Given the description of an element on the screen output the (x, y) to click on. 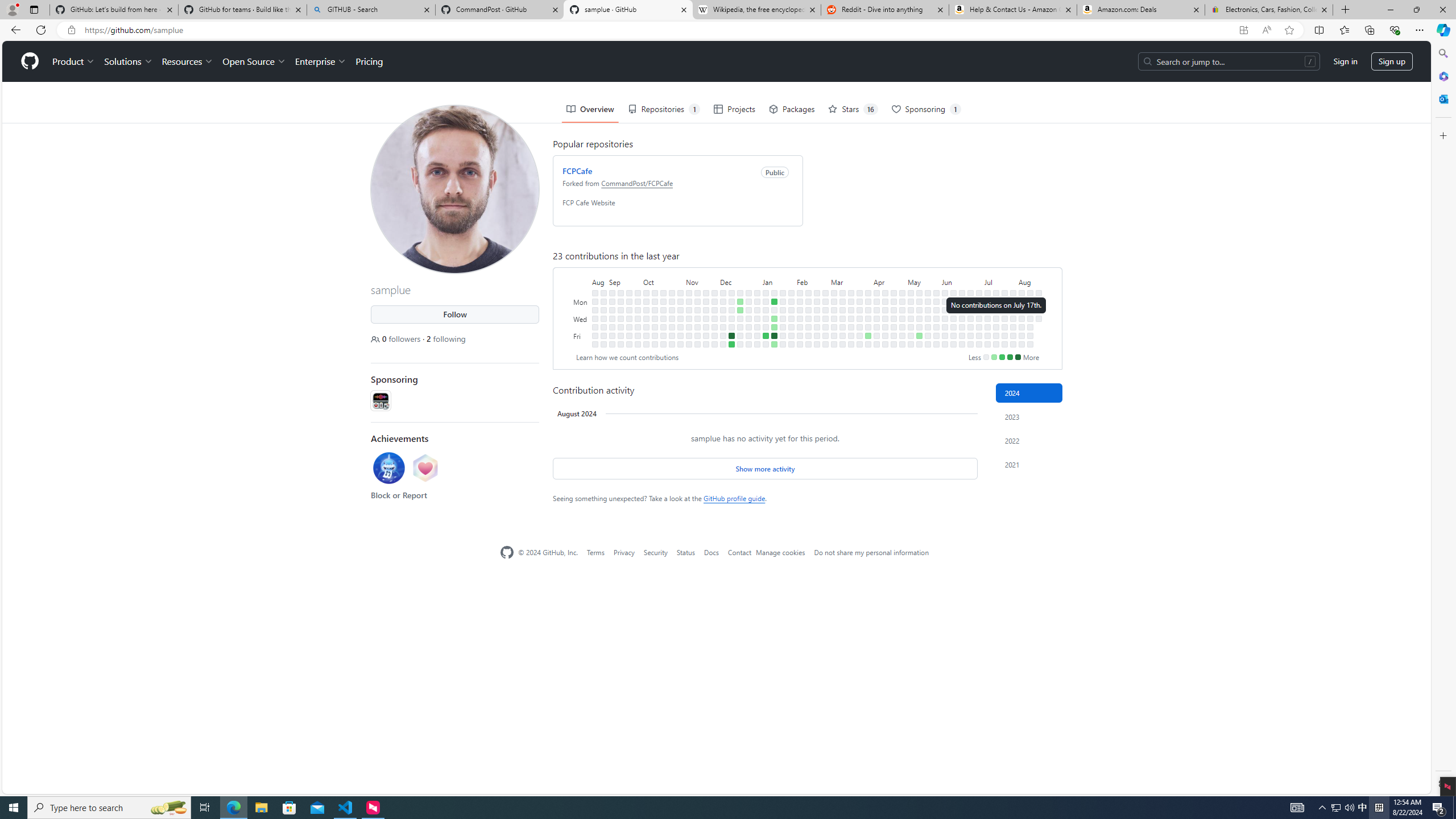
No contributions on July 13th. (987, 343)
No contributions on April 20th. (885, 343)
No contributions on February 12th. (807, 301)
No contributions on April 30th. (902, 309)
No contributions on November 24th. (706, 335)
2021 (1028, 464)
No contributions on August 15th. (1029, 326)
Thursday (581, 326)
No contributions on July 23rd. (1004, 309)
Wikipedia, the free encyclopedia (756, 9)
Manage cookies (780, 552)
1 contribution on January 18th. (774, 326)
No contributions on May 25th. (927, 343)
No contributions on June 2nd. (944, 292)
No contributions on May 10th. (910, 335)
